Given the description of an element on the screen output the (x, y) to click on. 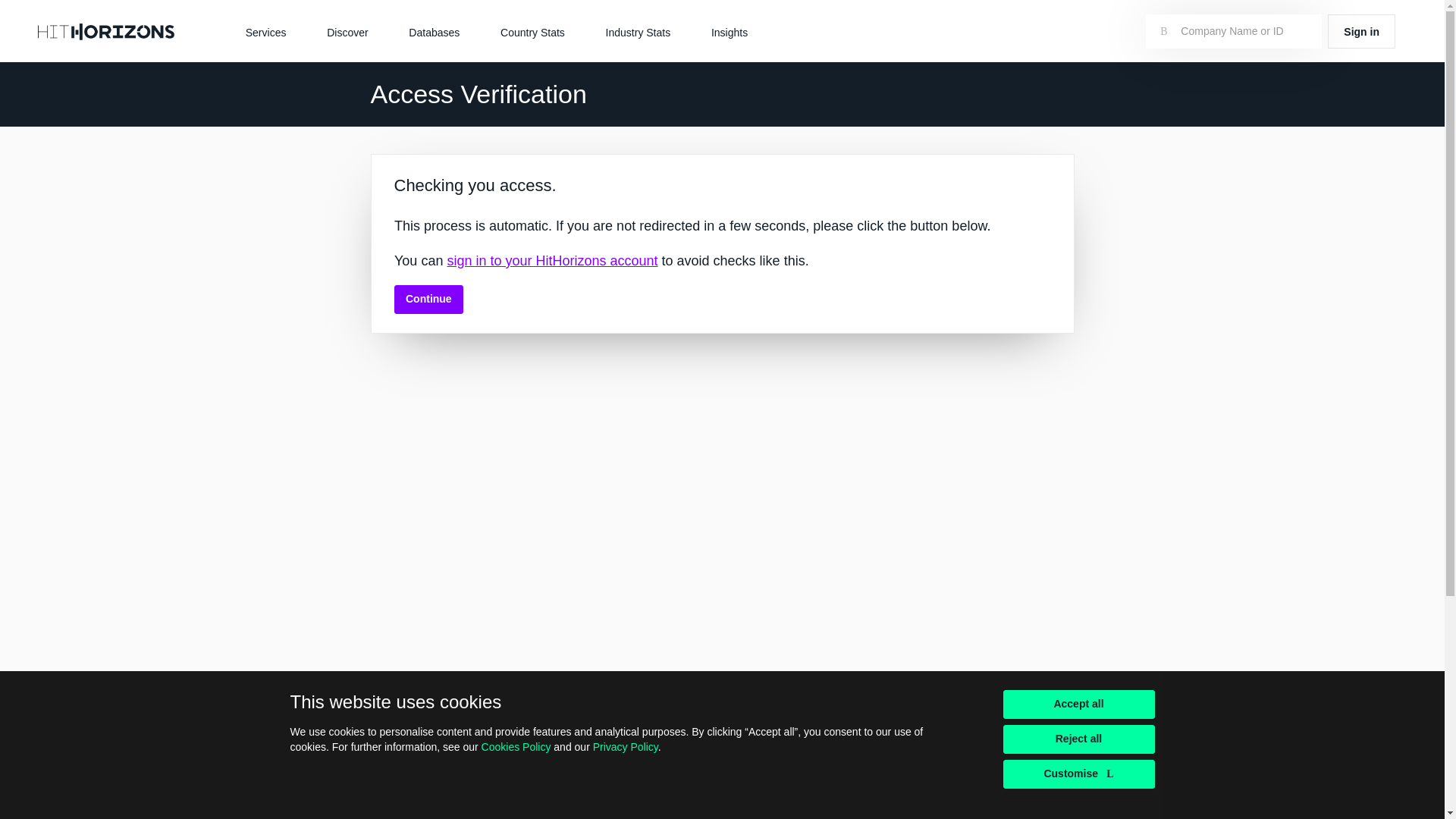
Databases (434, 31)
sign in to your HitHorizons account (552, 260)
Privacy Policy (625, 746)
Reject all (1078, 738)
Customise (1078, 774)
Services (266, 31)
Insights (729, 31)
Country Stats (532, 31)
Continue (428, 299)
Industry Stats (638, 31)
Discover (346, 31)
Sign in (1360, 31)
Accept all (1078, 704)
Cookies Policy (516, 746)
Continue (428, 299)
